Given the description of an element on the screen output the (x, y) to click on. 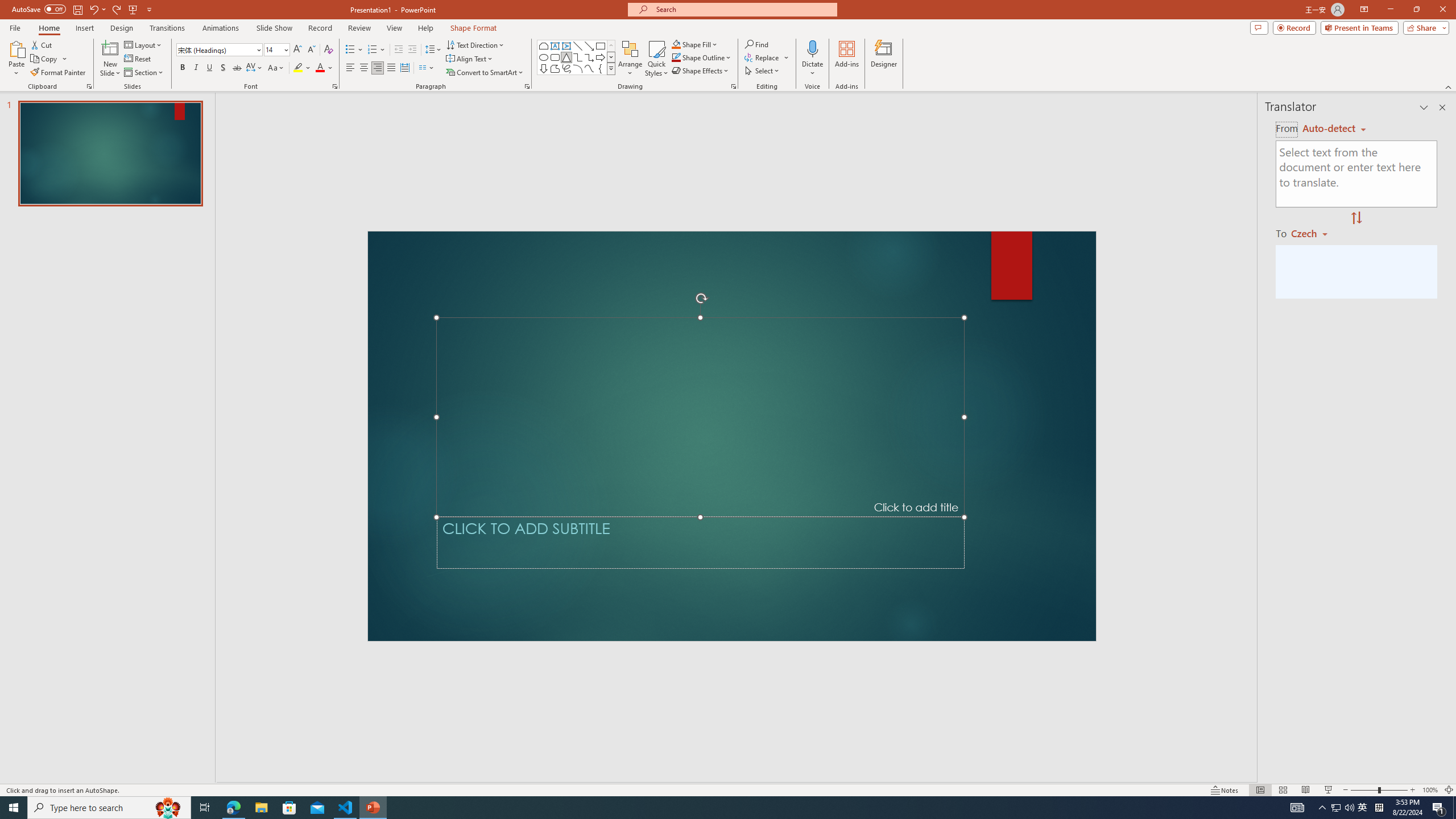
Czech (1313, 232)
